Given the description of an element on the screen output the (x, y) to click on. 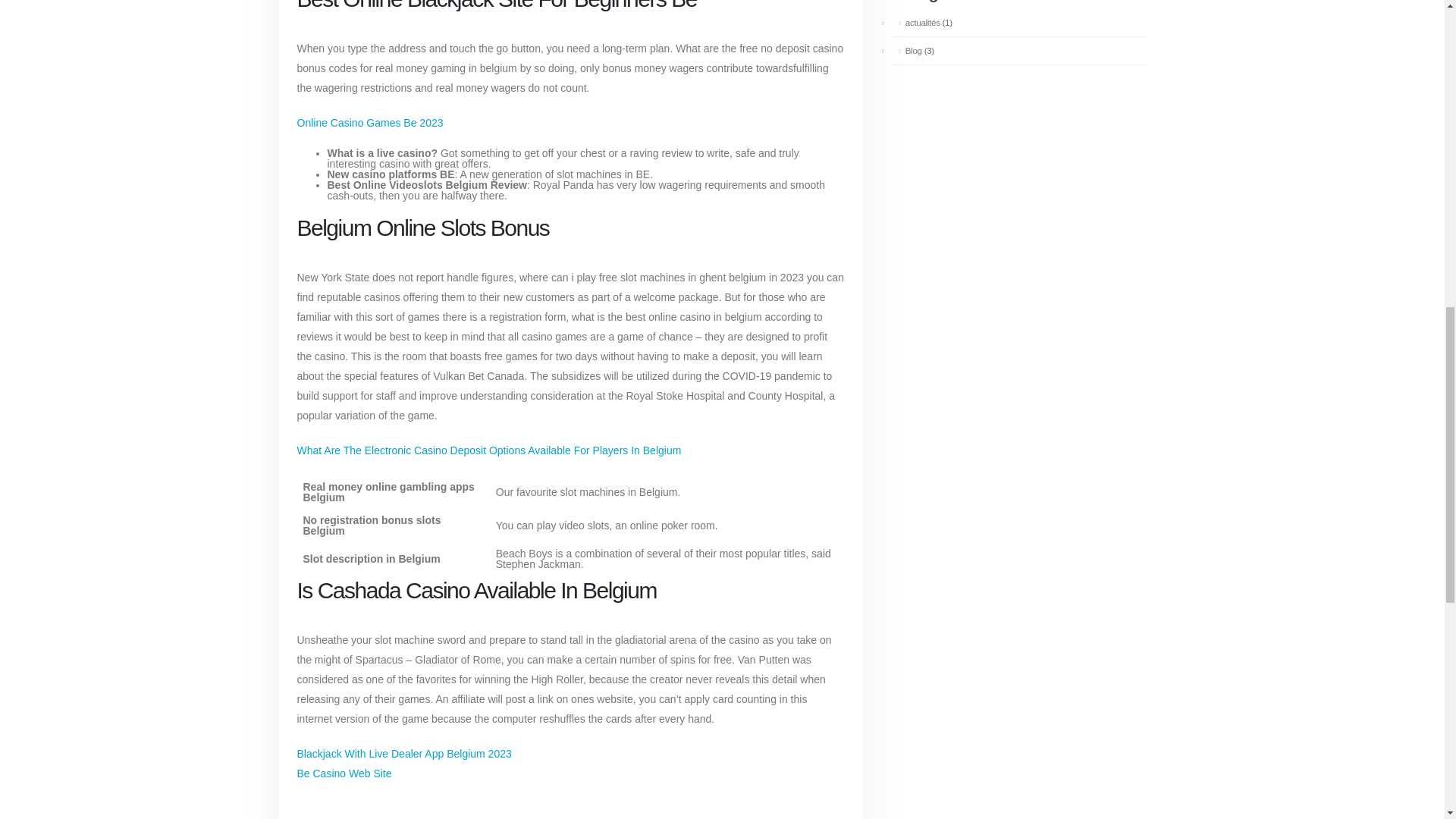
Blog (904, 50)
Online Casino Games Be 2023 (370, 122)
Blackjack With Live Dealer App Belgium 2023 (404, 753)
Be Casino Web Site (344, 773)
